Given the description of an element on the screen output the (x, y) to click on. 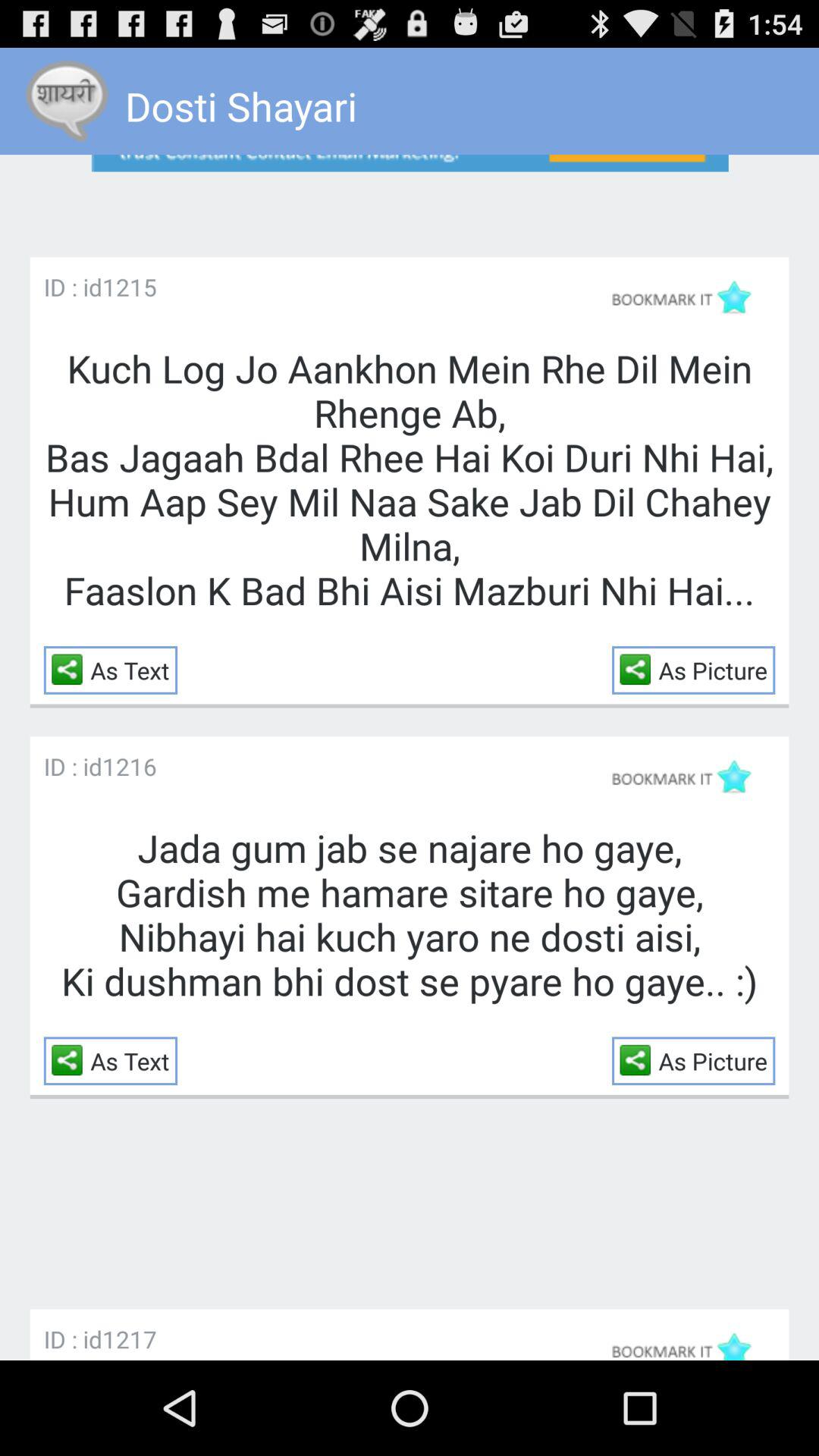
open app next to as text (70, 669)
